Given the description of an element on the screen output the (x, y) to click on. 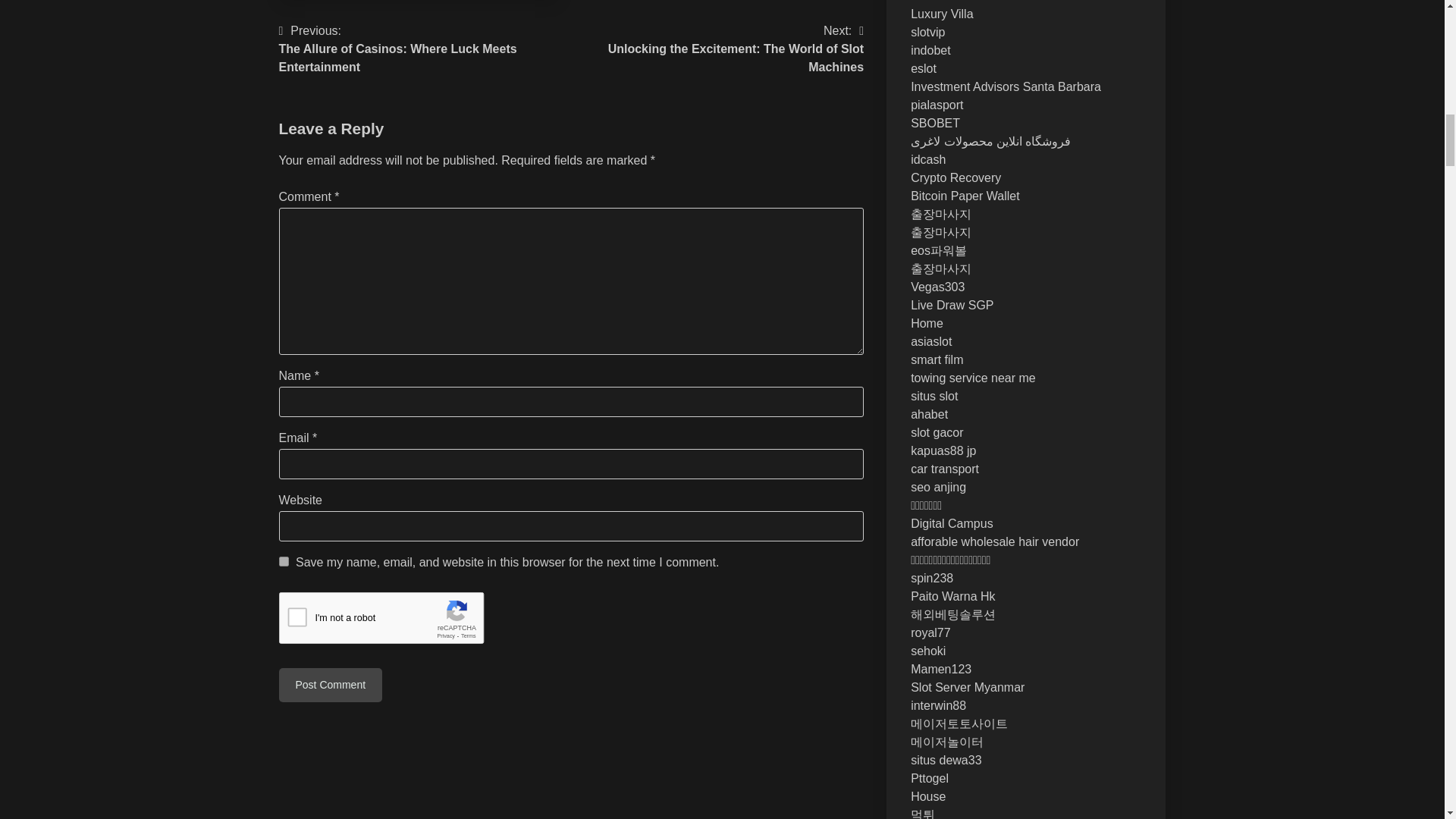
reCAPTCHA (716, 49)
yes (394, 621)
Post Comment (283, 561)
Post Comment (330, 684)
